Given the description of an element on the screen output the (x, y) to click on. 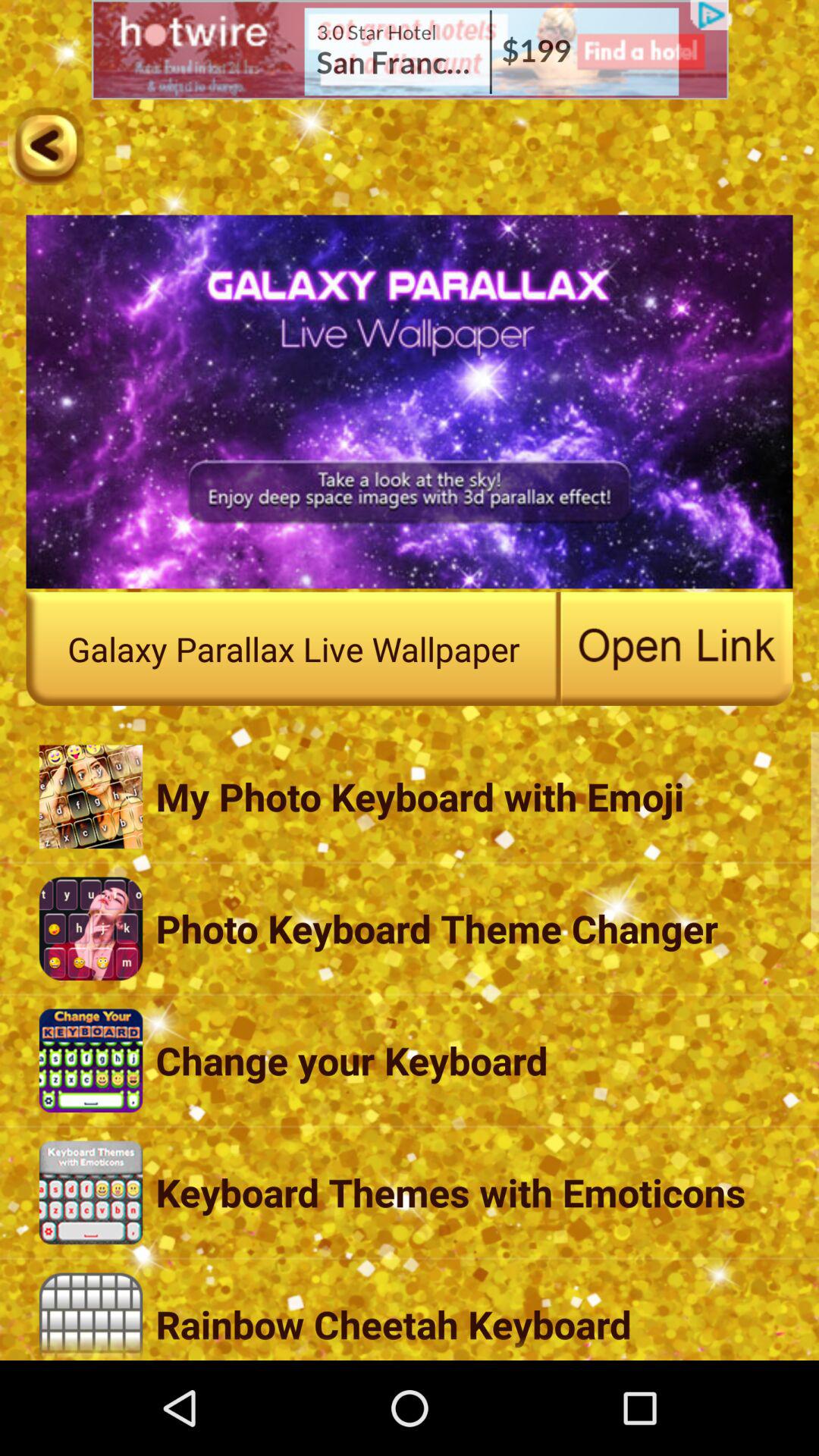
go to previous (45, 145)
